Given the description of an element on the screen output the (x, y) to click on. 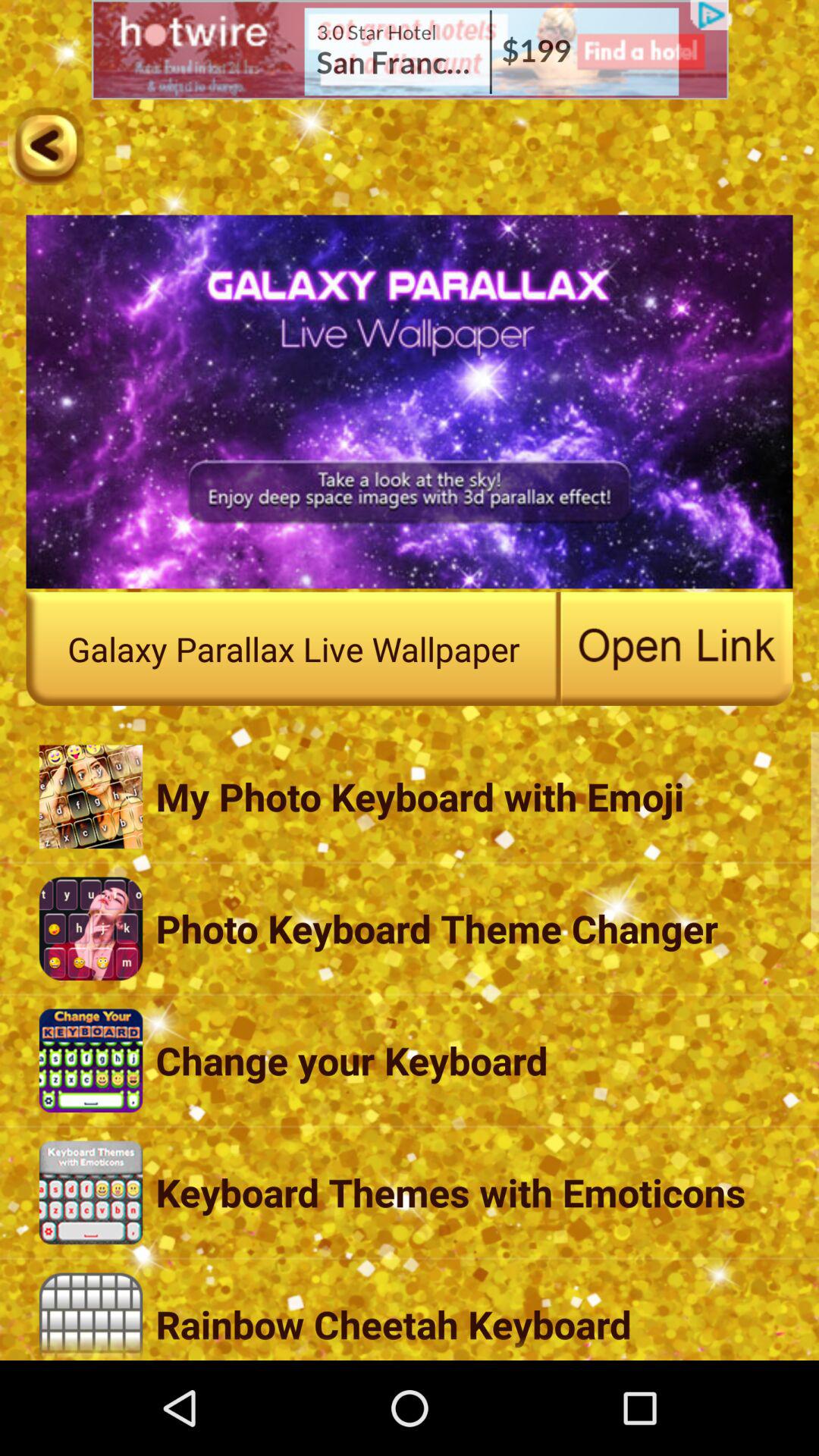
go to previous (45, 145)
